Given the description of an element on the screen output the (x, y) to click on. 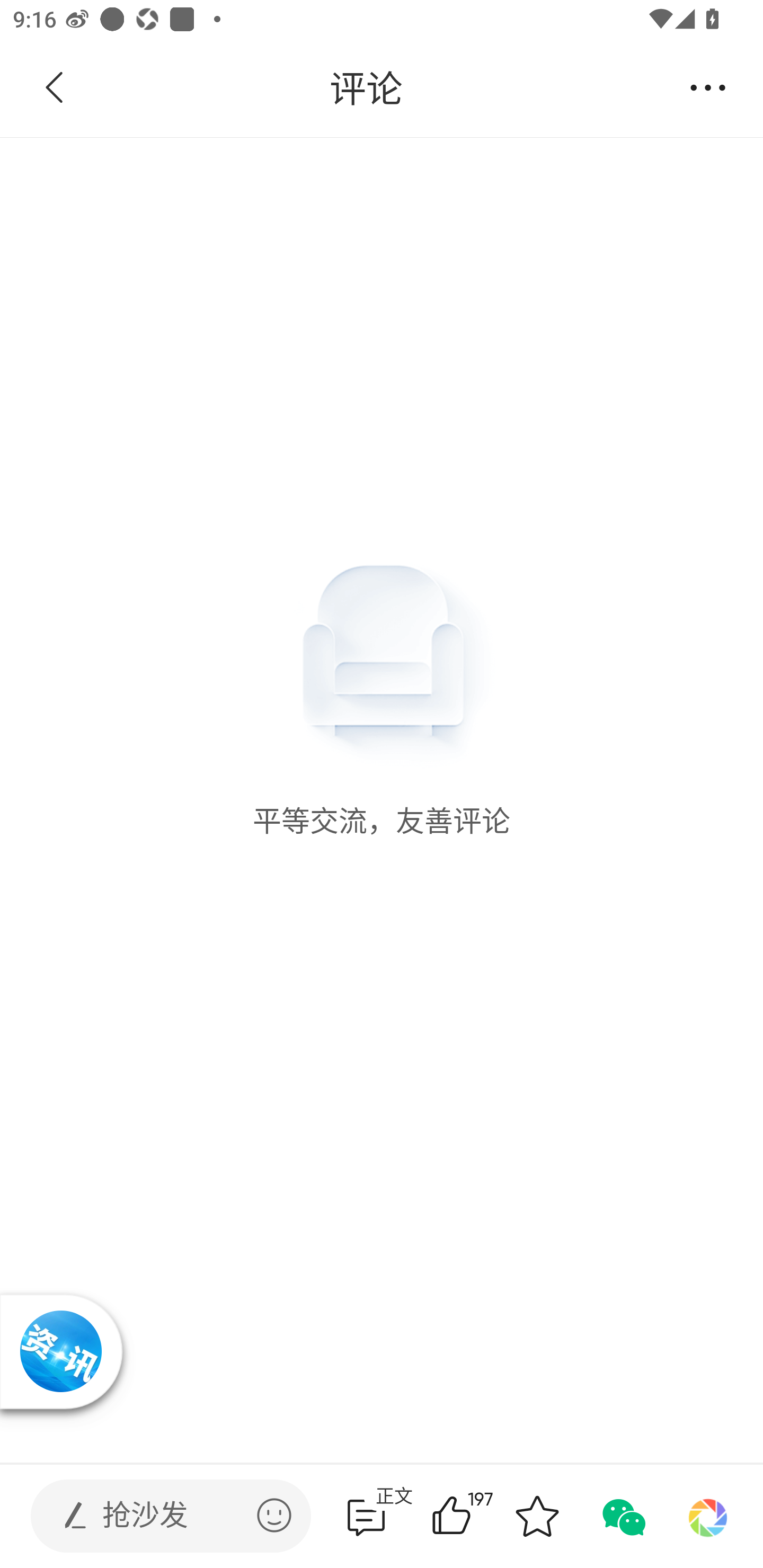
评论 (365, 87)
分享  (707, 87)
 返回 (54, 87)
平等交流，友善评论 (381, 487)
播放器 (60, 1350)
发表评论  抢沙发 发表评论  (155, 1516)
抢评论  抢 评论 (365, 1516)
197赞 (476, 1516)
收藏  (536, 1516)
分享到微信  (622, 1516)
分享到朋友圈 (707, 1516)
 (274, 1515)
